Given the description of an element on the screen output the (x, y) to click on. 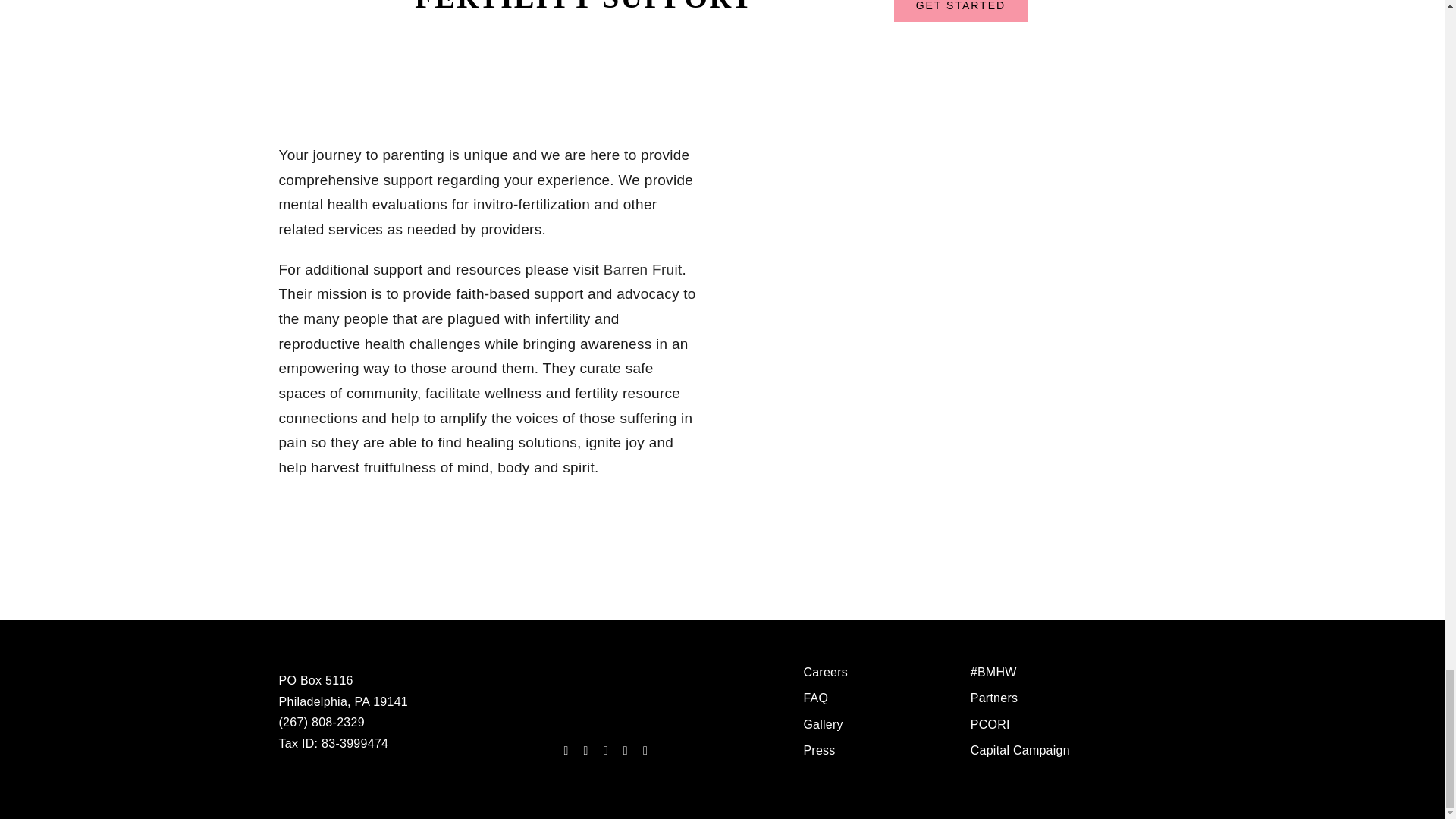
Barren Fruit (643, 269)
GET STARTED (960, 11)
